Given the description of an element on the screen output the (x, y) to click on. 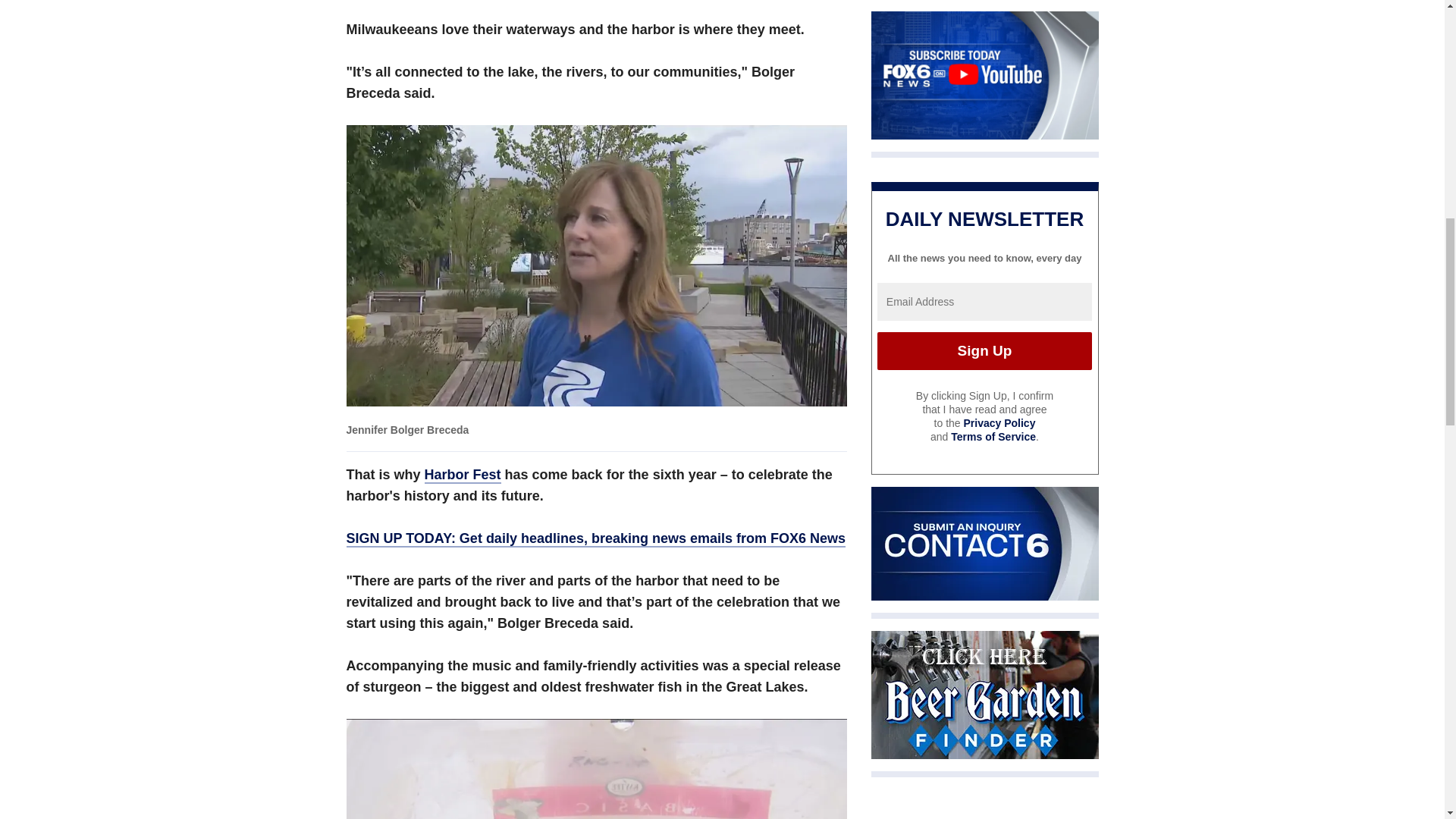
Sign Up (984, 351)
